Given the description of an element on the screen output the (x, y) to click on. 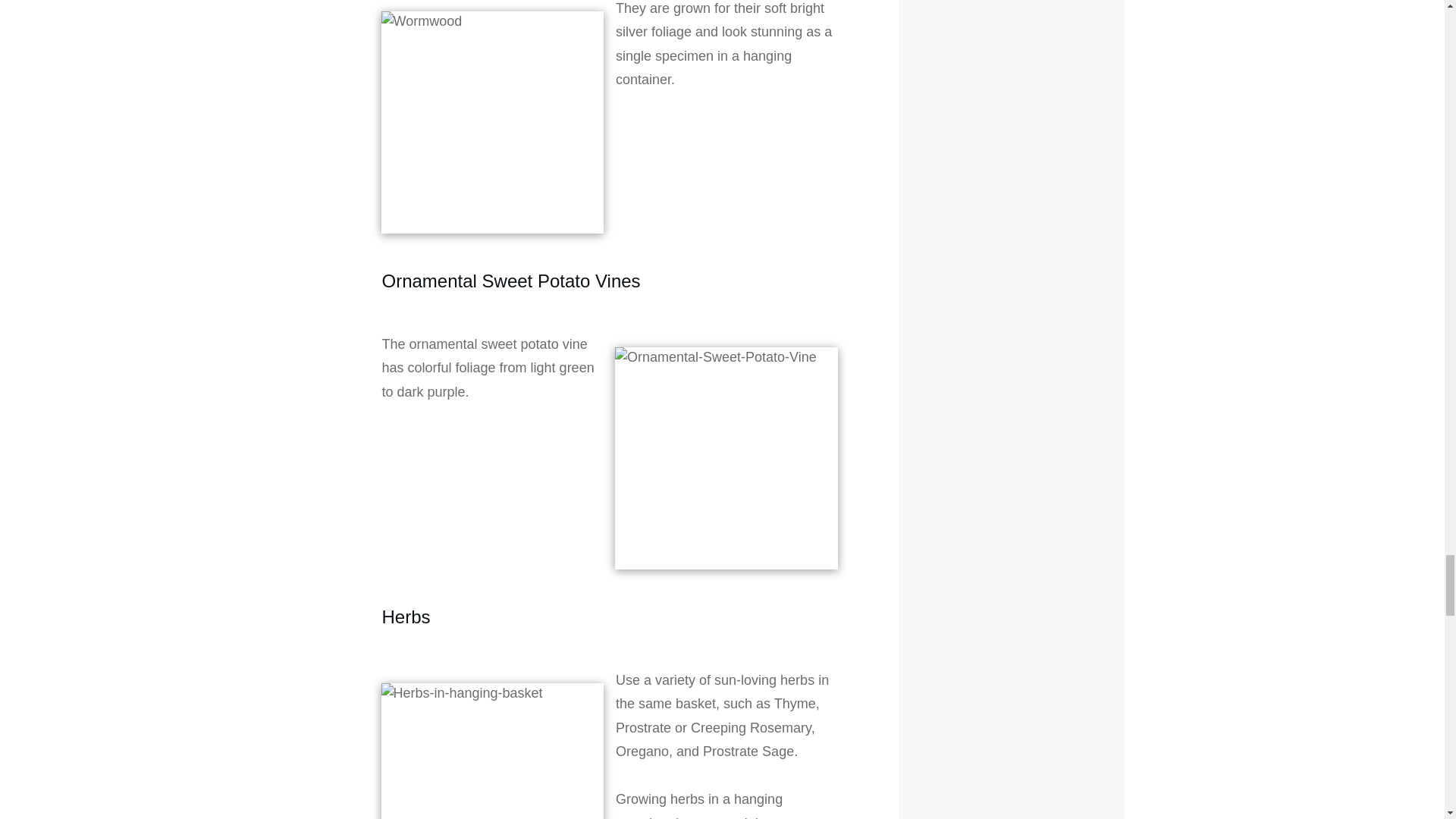
Wormwood (492, 122)
Ornamental-Sweet-Potato-Vine (726, 458)
Herbs-in-hanging-basket (492, 751)
